Given the description of an element on the screen output the (x, y) to click on. 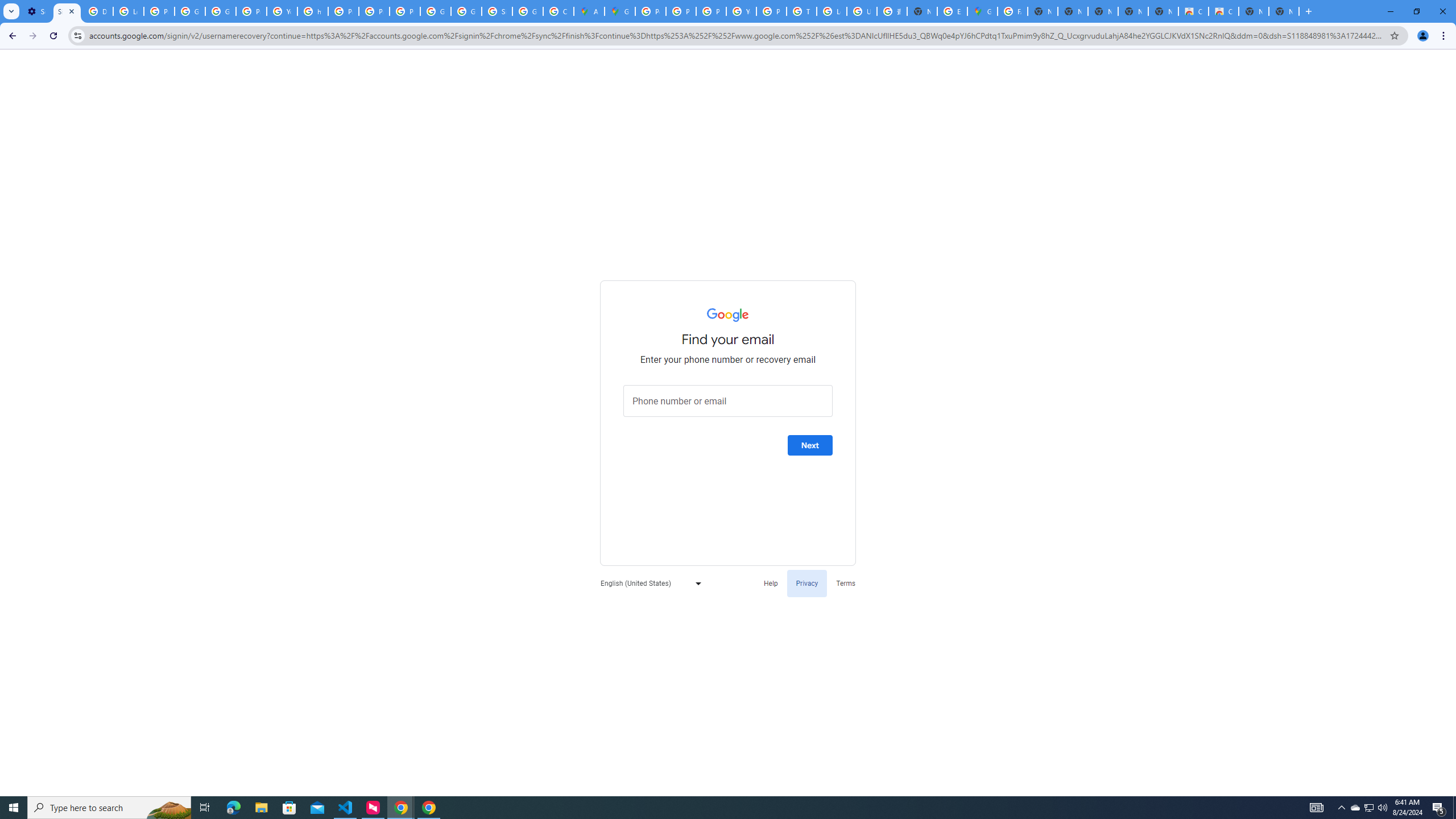
Create your Google Account (558, 11)
Forward (32, 35)
Delete photos & videos - Computer - Google Photos Help (97, 11)
Google Account Help (220, 11)
Privacy (806, 583)
Google Maps (982, 11)
Google Maps (619, 11)
You (1422, 35)
